Given the description of an element on the screen output the (x, y) to click on. 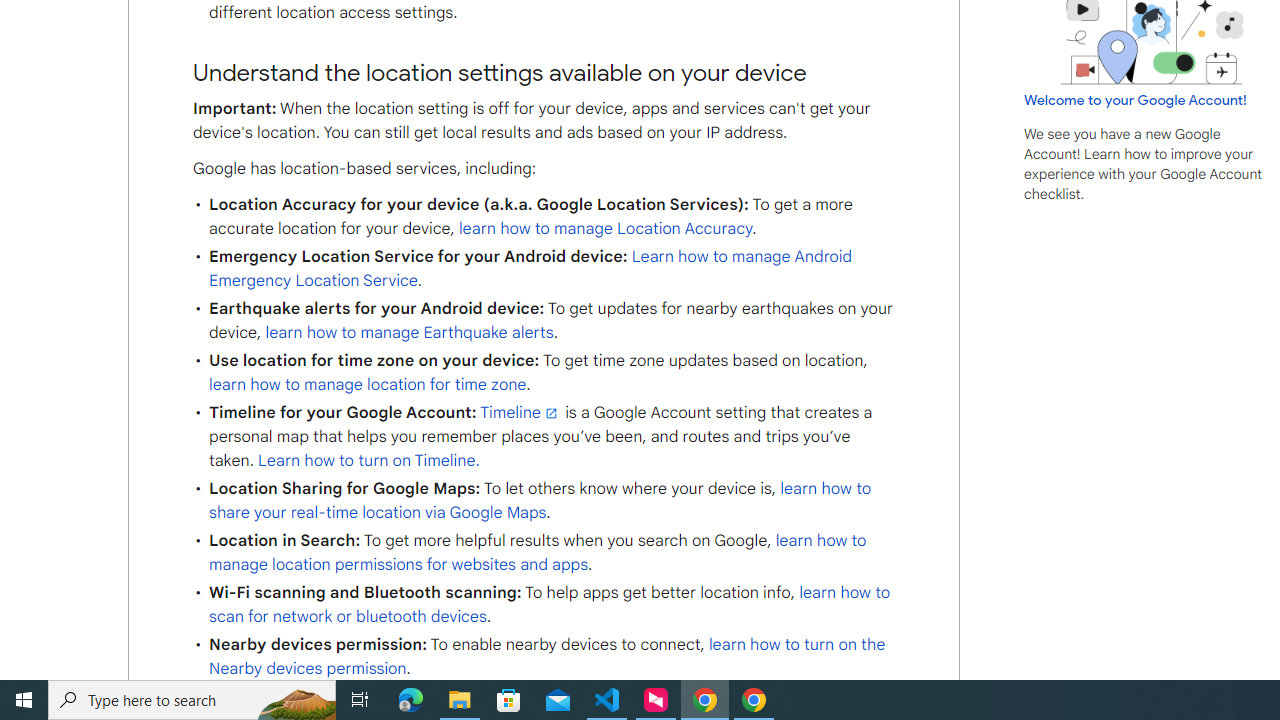
learn how to manage location for time zone (367, 385)
Timeline (520, 413)
learn how to turn on the Nearby devices permission (546, 656)
learn how to share your real-time location via Google Maps (539, 500)
learn how to manage Earthquake alerts (409, 332)
Welcome to your Google Account! (1135, 99)
Learn how to manage Android Emergency Location Service (530, 268)
learn how to manage Location Accuracy (605, 228)
Learn how to turn on Timeline. (369, 460)
learn how to scan for network or bluetooth devices (549, 605)
